Given the description of an element on the screen output the (x, y) to click on. 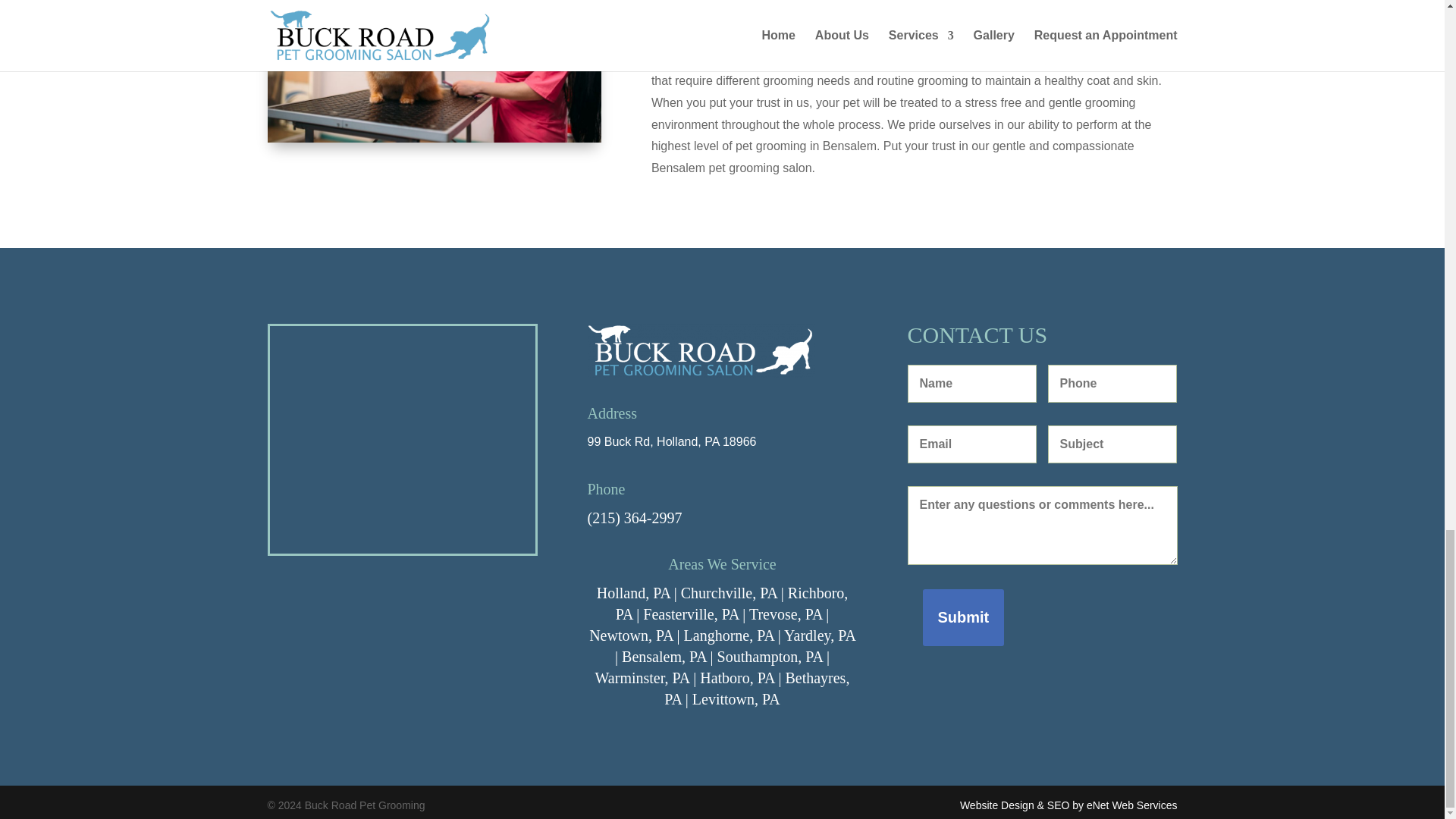
Richboro, PA (731, 603)
Warminster, PA (642, 677)
Levittown, PA (736, 699)
Submit (962, 617)
Trevose, PA (785, 614)
Southampton, PA (769, 656)
Churchville, PA (729, 592)
Yardley, PA (820, 635)
Feasterville, PA (690, 614)
Holland, PA (632, 592)
Submit (962, 617)
Dog Groomer in Bensalem, PA (432, 71)
Bensalem, PA (663, 656)
Bethayres, PA (755, 688)
Newtown, PA (630, 635)
